Given the description of an element on the screen output the (x, y) to click on. 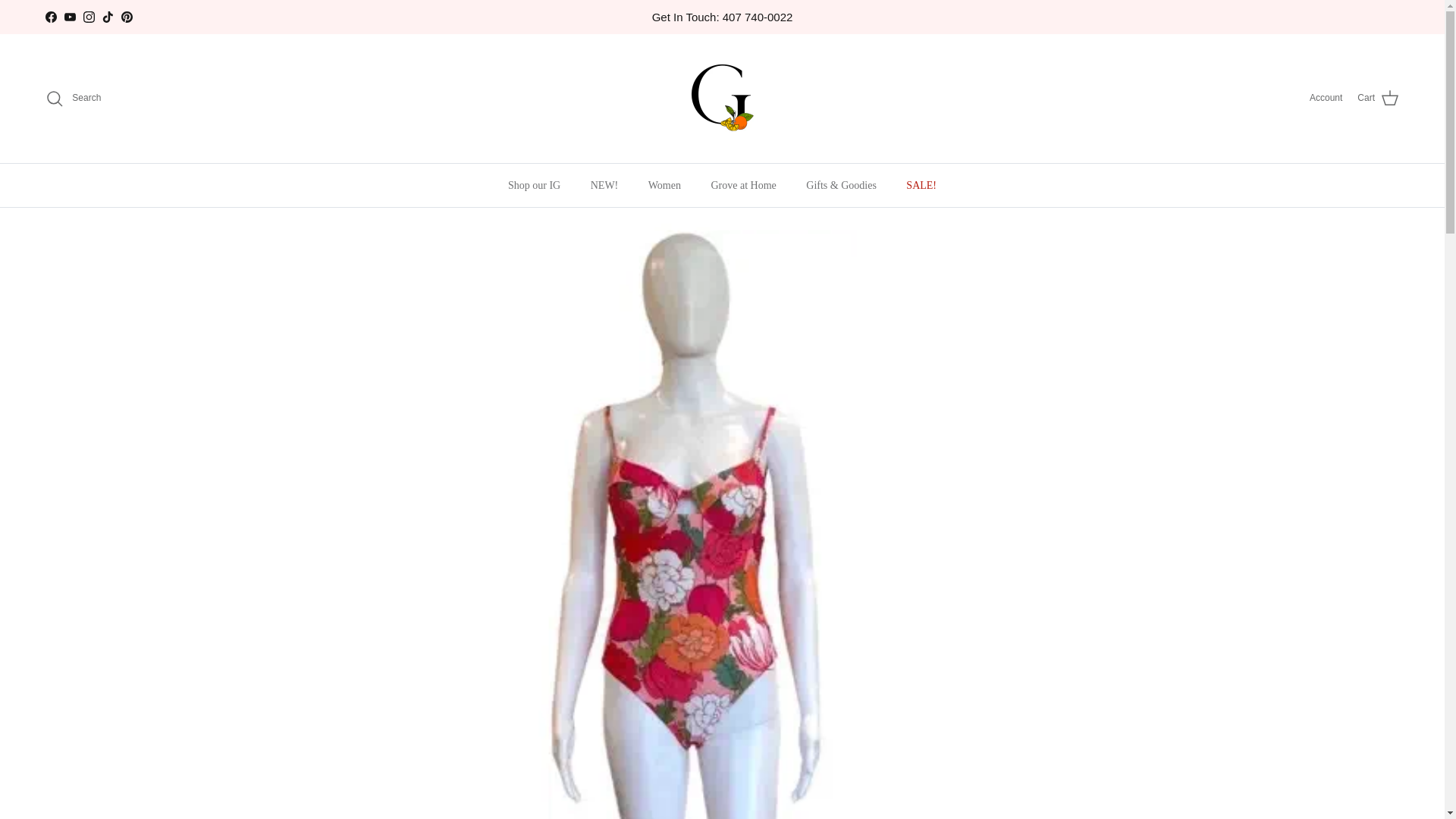
Women (664, 185)
The Grove on Pinterest (126, 16)
Pinterest (126, 16)
The Grove on Instagram (88, 16)
Facebook (50, 16)
Search (72, 98)
Account (1325, 97)
NEW! (603, 185)
Instagram (88, 16)
The Grove on YouTube (69, 16)
Cart (1377, 98)
Shop our IG (534, 185)
TikTok (107, 16)
YouTube (69, 16)
The Grove on TikTok (107, 16)
